Given the description of an element on the screen output the (x, y) to click on. 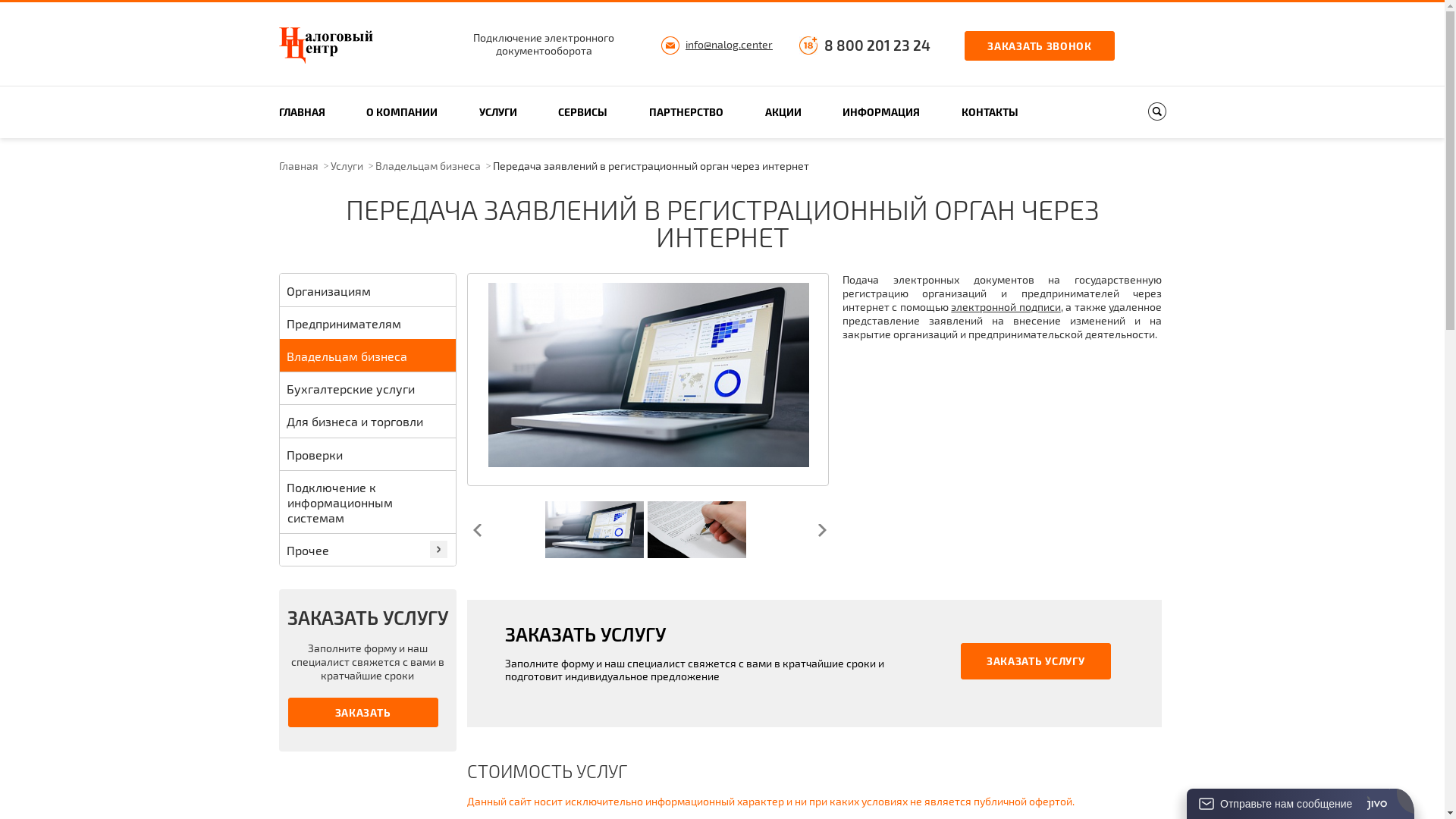
8 800 201 23 24 Element type: text (877, 44)
info@nalog.center Element type: text (728, 43)
